Given the description of an element on the screen output the (x, y) to click on. 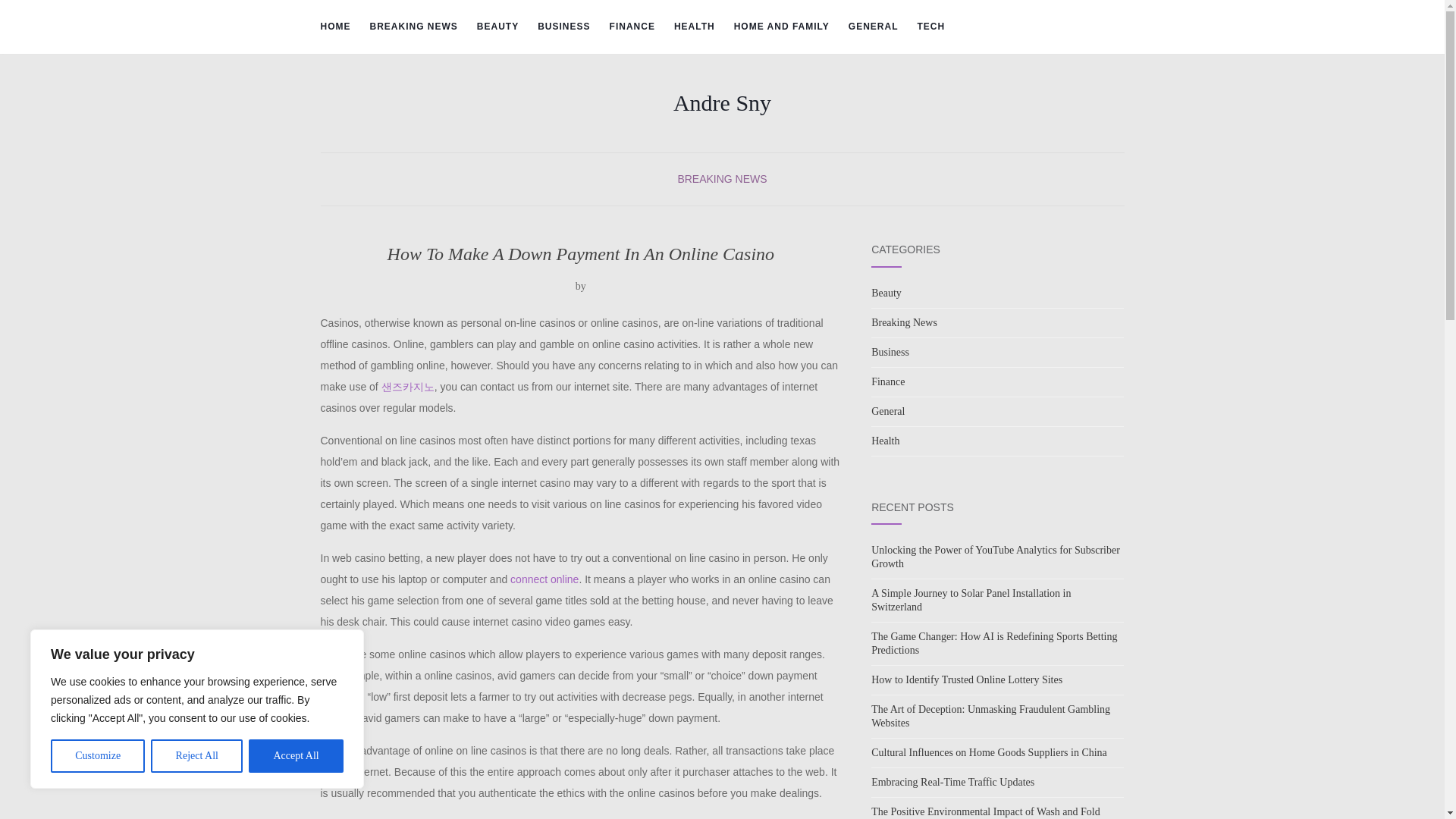
Reject All (197, 756)
BREAKING NEWS (722, 178)
Customize (97, 756)
Home and Family (781, 27)
GENERAL (873, 27)
HOME AND FAMILY (781, 27)
Accept All (295, 756)
Finance (887, 381)
BREAKING NEWS (413, 27)
BUSINESS (563, 27)
